Given the description of an element on the screen output the (x, y) to click on. 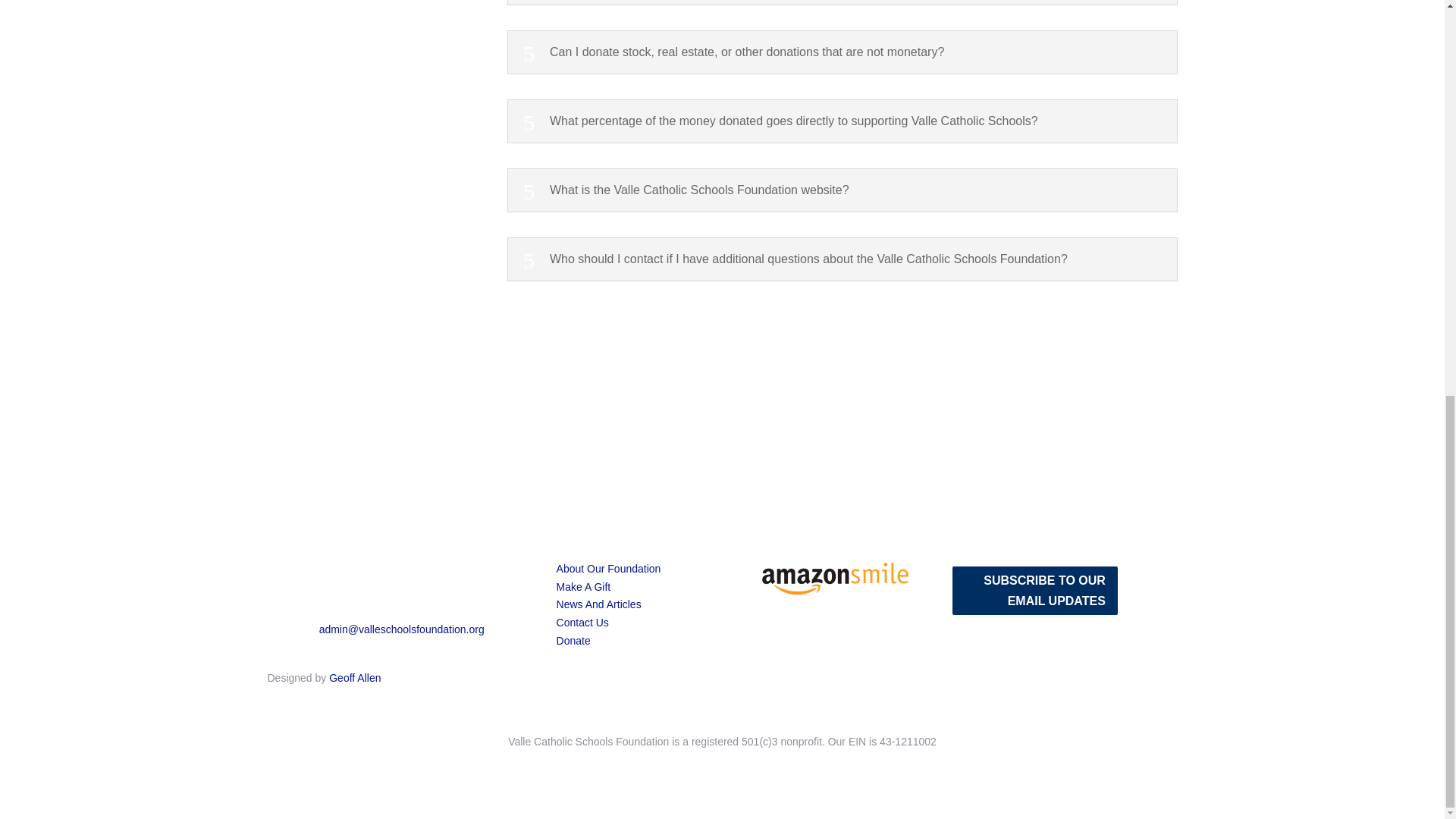
Follow on X (339, 651)
Follow on X (1162, 602)
Follow on Instagram (309, 651)
Follow on Facebook (278, 651)
Follow on Facebook (1131, 572)
Follow on Instagram (1131, 602)
